Given the description of an element on the screen output the (x, y) to click on. 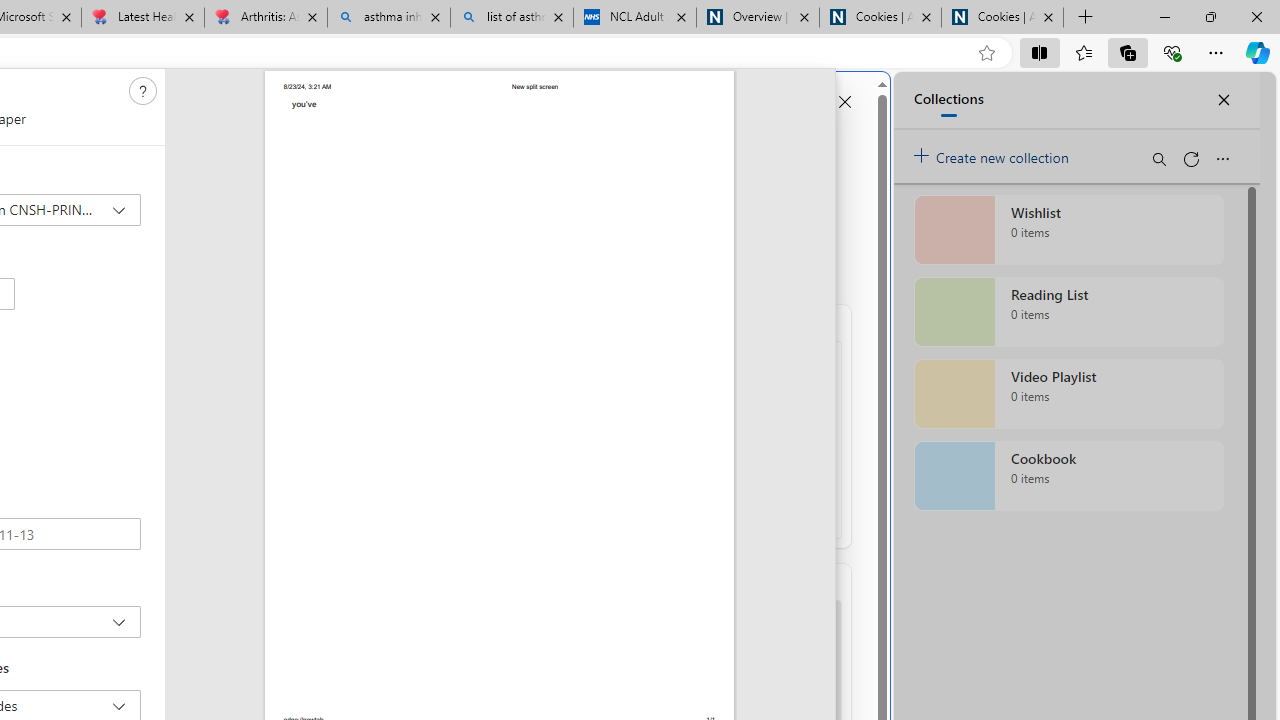
Class: c0129 (142, 90)
Need help (143, 91)
